Given the description of an element on the screen output the (x, y) to click on. 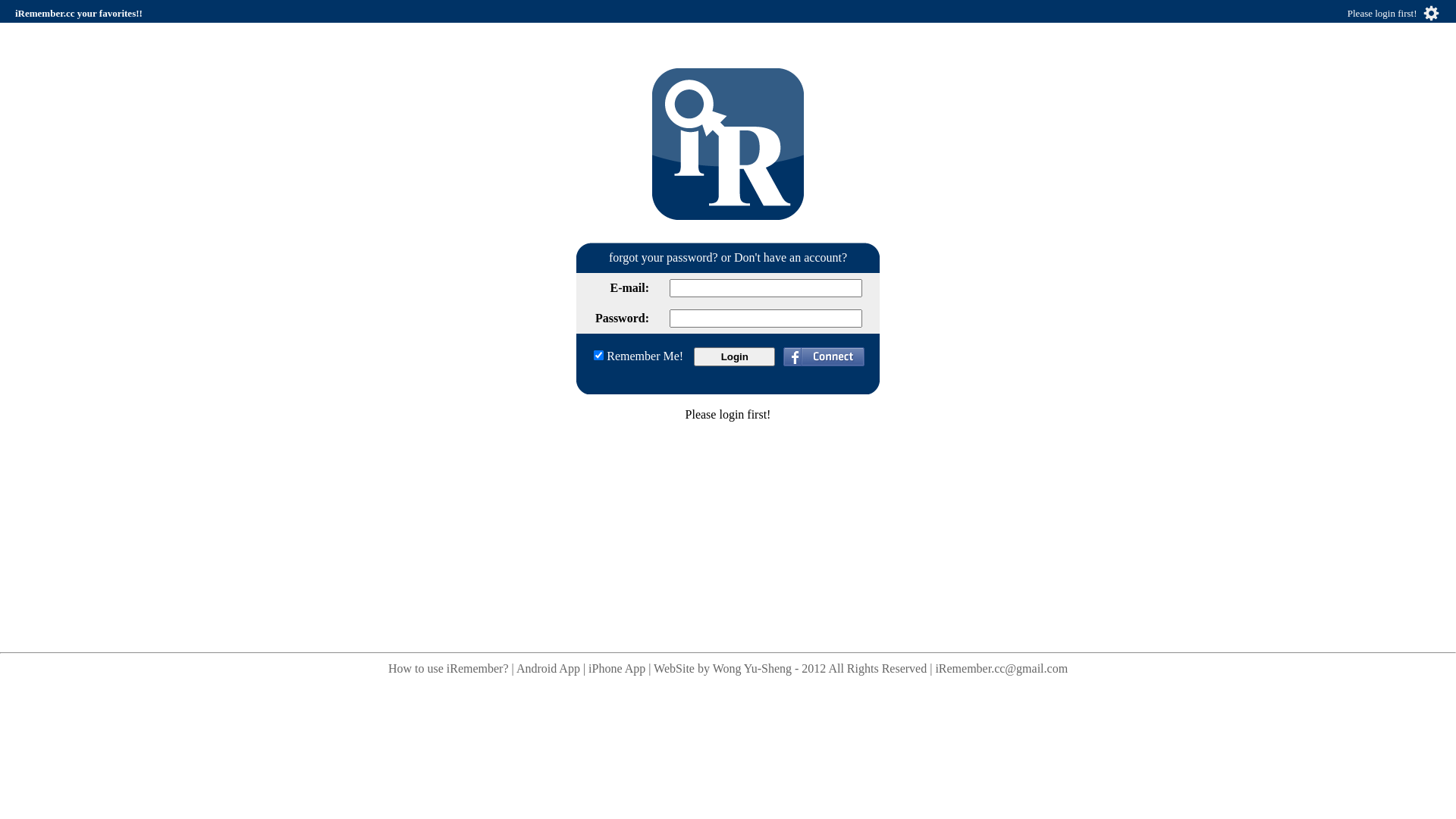
iRemember.cc@gmail.com Element type: text (1001, 668)
Android App Element type: text (548, 668)
How to use iRemember? Element type: text (448, 668)
Login Element type: text (734, 356)
What's this?! Element type: hover (727, 143)
forgot your password? Element type: text (663, 257)
iRemember.cc your favorites!! Element type: text (78, 12)
iPhone App Element type: text (616, 668)
Use Facebook account to login Element type: hover (823, 360)
Don't have an account? Element type: text (790, 257)
